Given the description of an element on the screen output the (x, y) to click on. 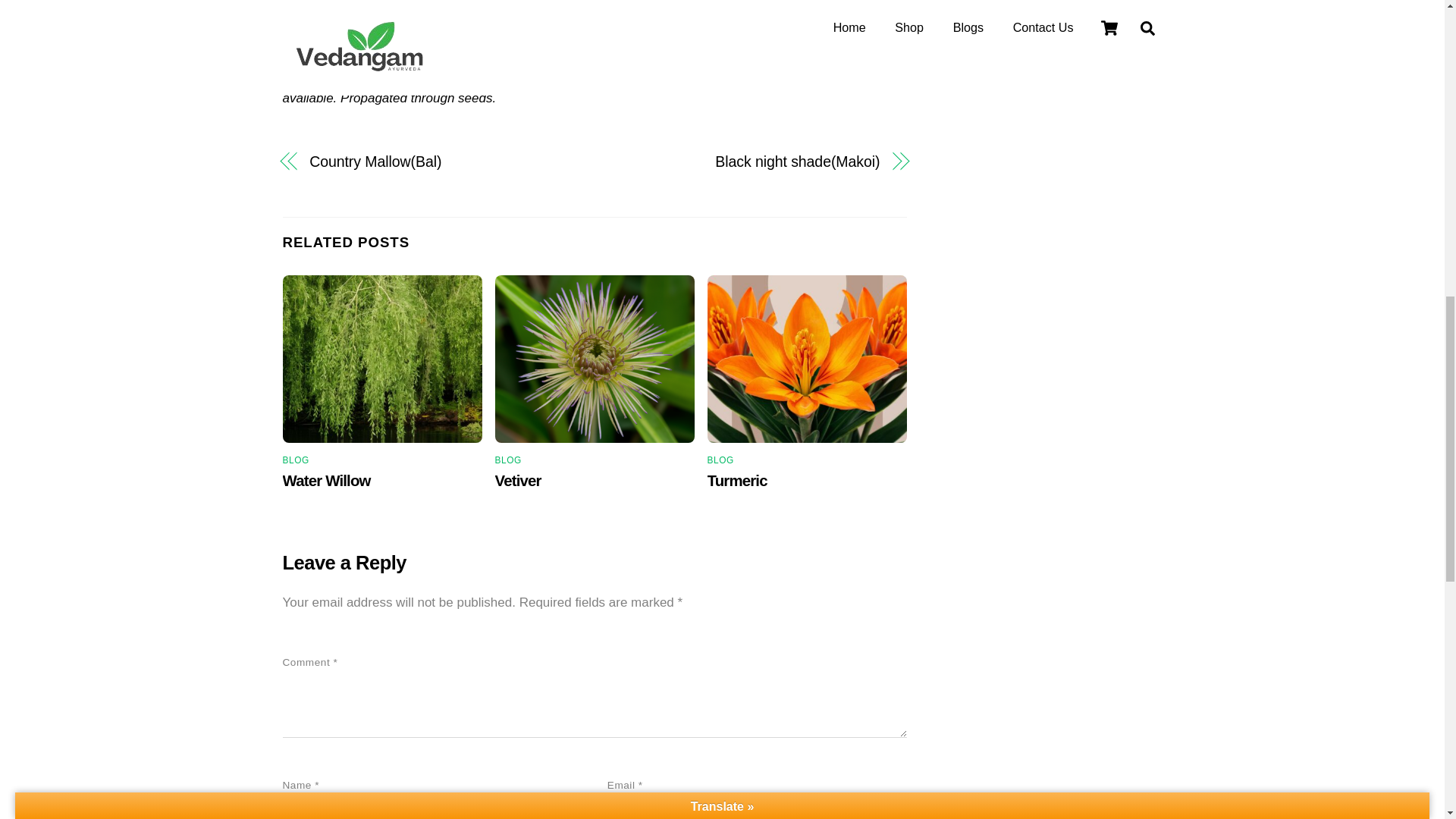
fd9yYlWUSIC9w-U4BPPtug (595, 359)
inwOLM2eQue67fD-3Z2sKA (807, 359)
BLOG (295, 460)
Vetiver (518, 480)
Water Willow (325, 480)
BLOG (508, 460)
